Given the description of an element on the screen output the (x, y) to click on. 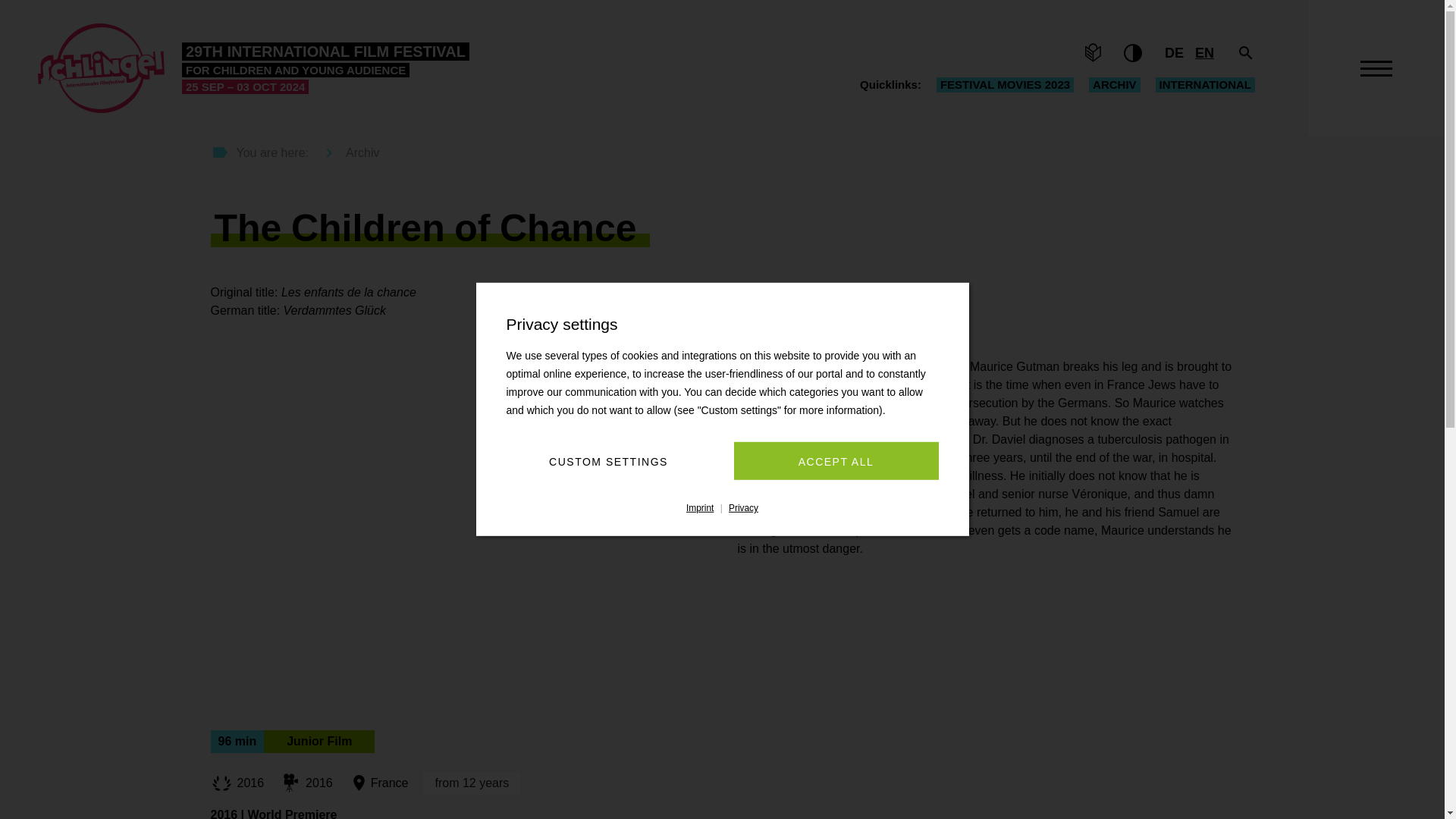
deutsche Version (1173, 53)
Currently selected: english version (1204, 53)
Open search (1245, 53)
Festival Movies 2023 (1005, 84)
DE (1173, 53)
Home SCHLINGEL Filmfestival (252, 68)
INTERNATIONAL (1205, 84)
FESTIVAL MOVIES 2023 (1005, 84)
International (1205, 84)
Archiv (1114, 84)
Archiv (345, 153)
ARCHIV (1114, 84)
EN (1204, 53)
Simple language (1092, 53)
High contrast version (1132, 53)
